Given the description of an element on the screen output the (x, y) to click on. 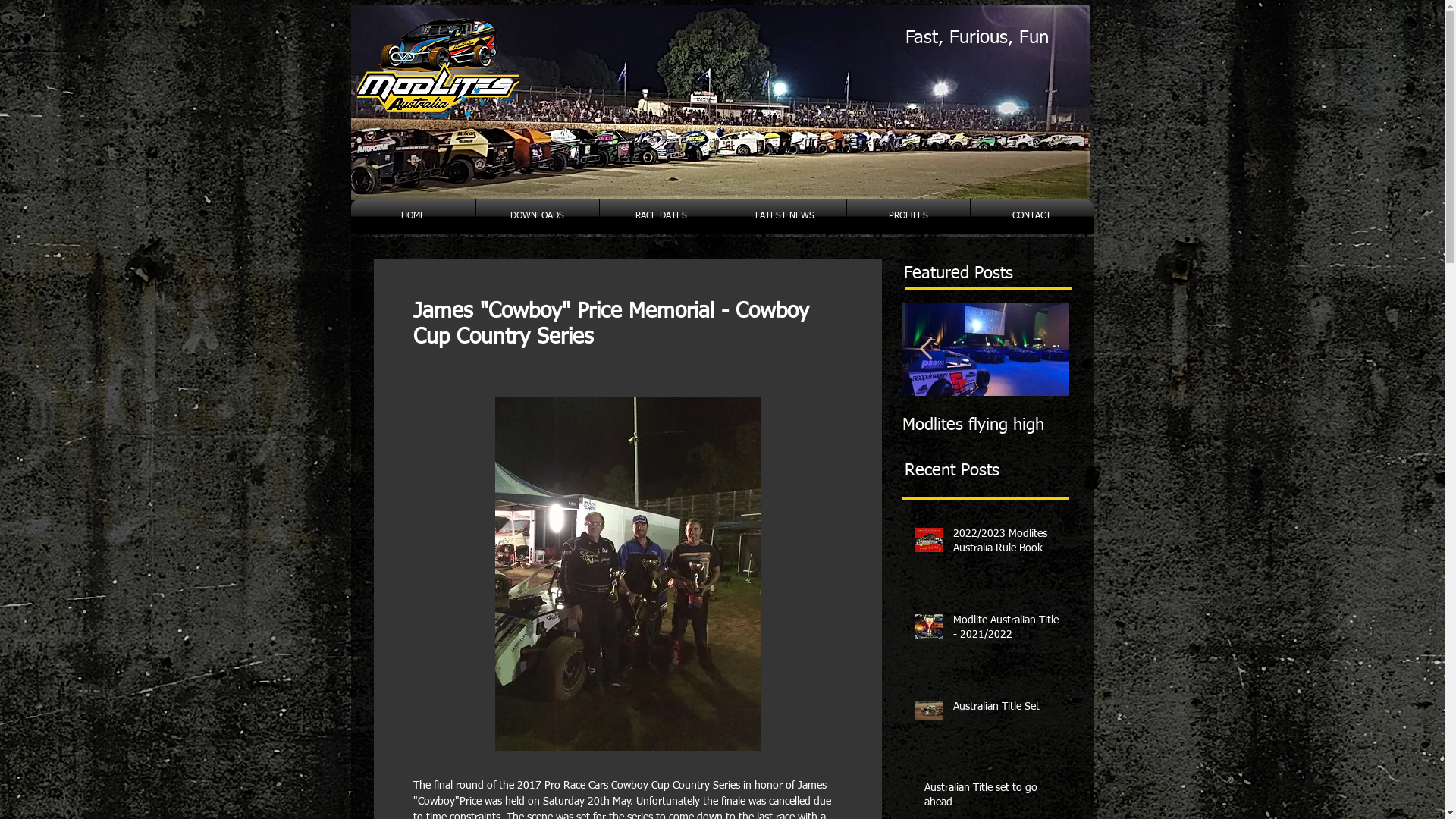
CONTACT Element type: text (1031, 216)
Moving towards the future Element type: text (818, 435)
RACE DATES Element type: text (660, 216)
Modlite Australian Title - 2021/2022 Element type: text (318, 435)
Australian Title set to go ahead Element type: text (992, 798)
PROFILES Element type: text (907, 216)
Australian Title set to go ahead Element type: text (651, 435)
2022/2023 Modlites Australia Rule Book Element type: text (151, 435)
Australian Title Set Element type: text (1006, 710)
Australian Title Set Element type: text (484, 425)
HOME Element type: text (412, 216)
LATEST NEWS Element type: text (784, 216)
Modlites flying high Element type: text (985, 425)
2022/2023 Modlites Australia Rule Book Element type: text (1006, 544)
DOWNLOADS Element type: text (537, 216)
Modlite Australian Title - 2021/2022 Element type: text (1006, 631)
